Given the description of an element on the screen output the (x, y) to click on. 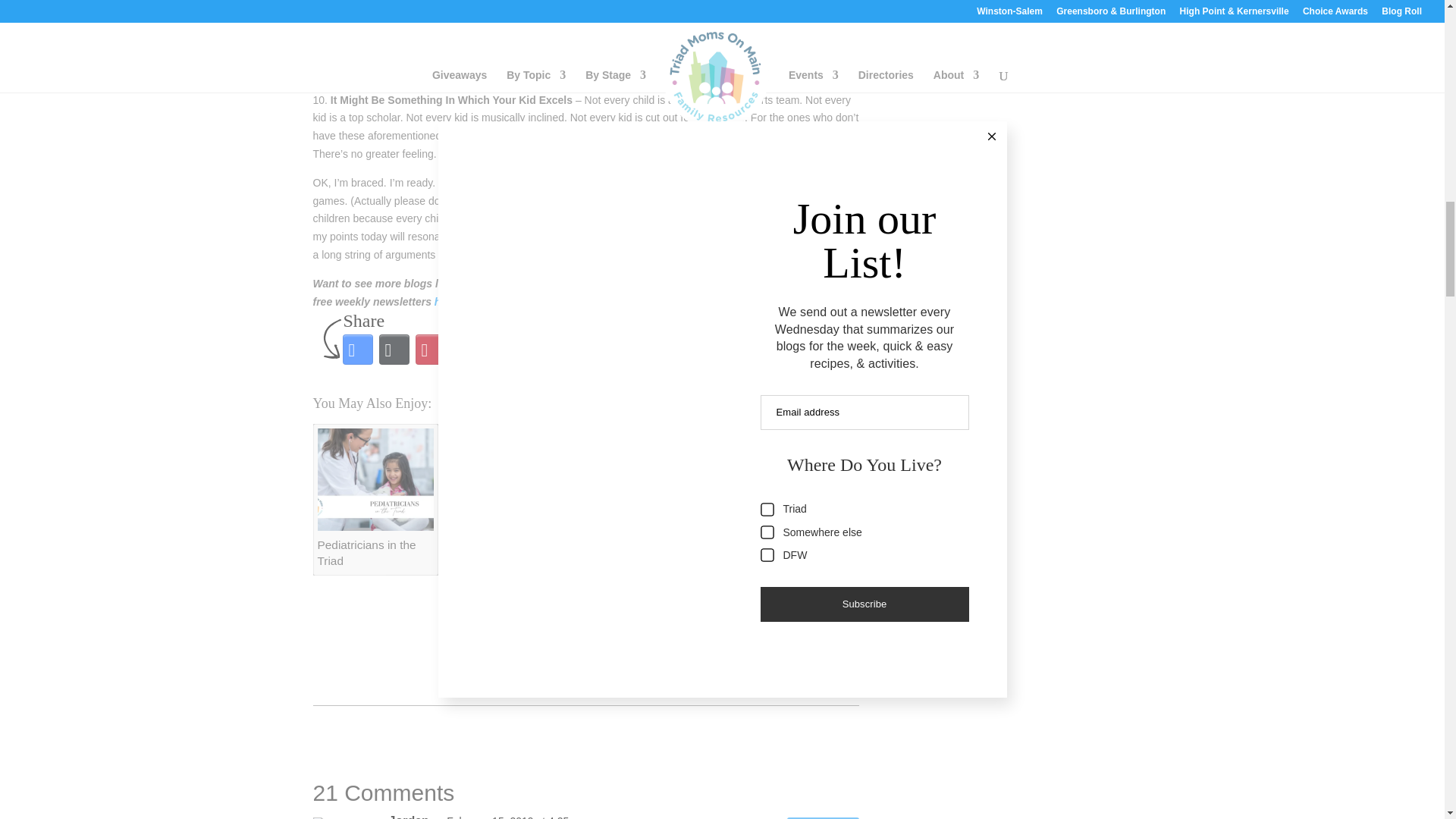
More Options (612, 349)
Copy Link (539, 349)
Facebook (357, 349)
Website Tools by Shareaholic (837, 411)
LinkedIn (466, 349)
Email This (502, 349)
Pinterest (430, 349)
SMS (575, 349)
